Given the description of an element on the screen output the (x, y) to click on. 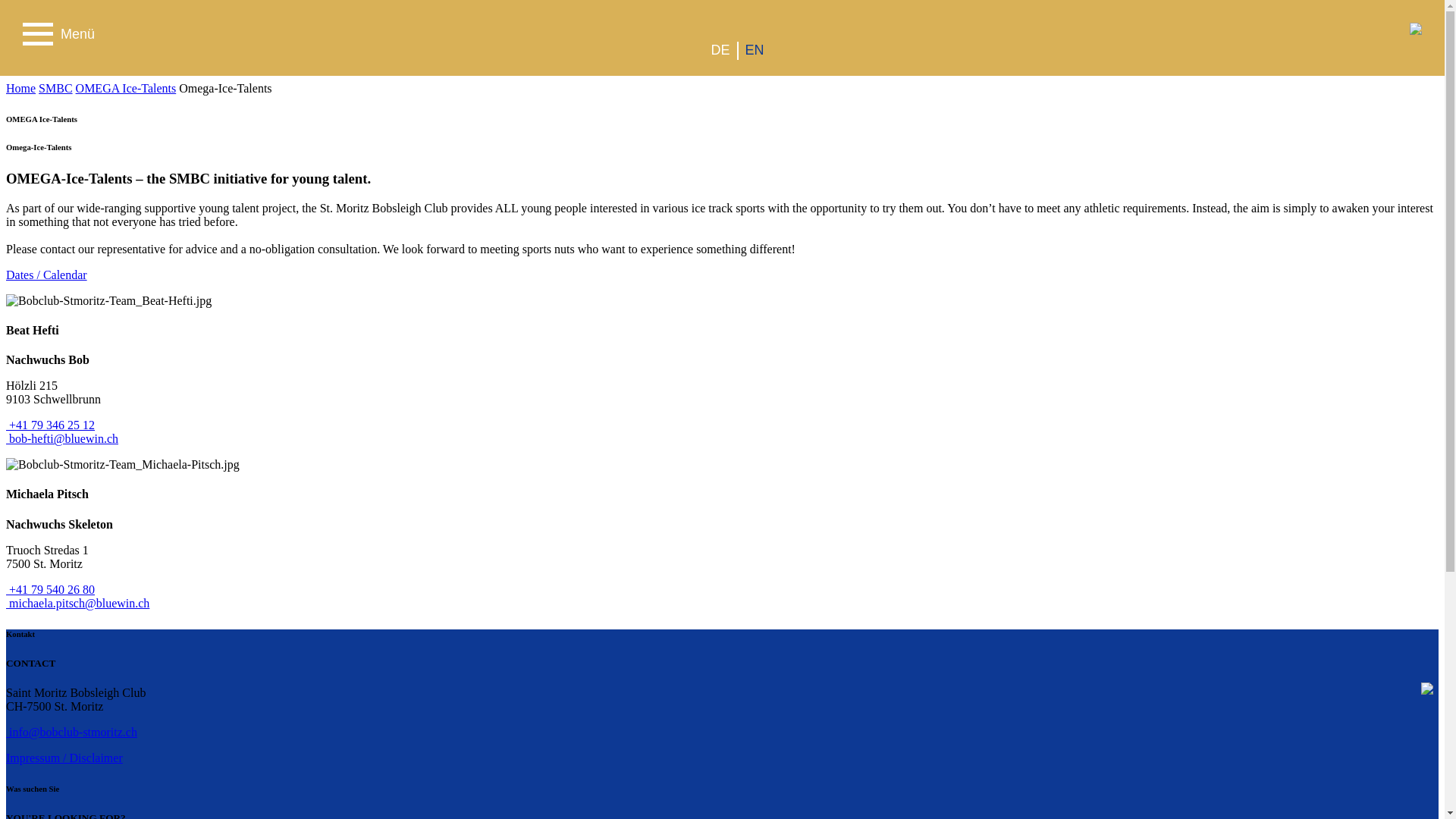
EN (753, 49)
SMBC (55, 88)
OMEGA Ice-Talents (125, 88)
Home (19, 88)
Omega-Ice-Talents (224, 88)
DE (719, 49)
